Given the description of an element on the screen output the (x, y) to click on. 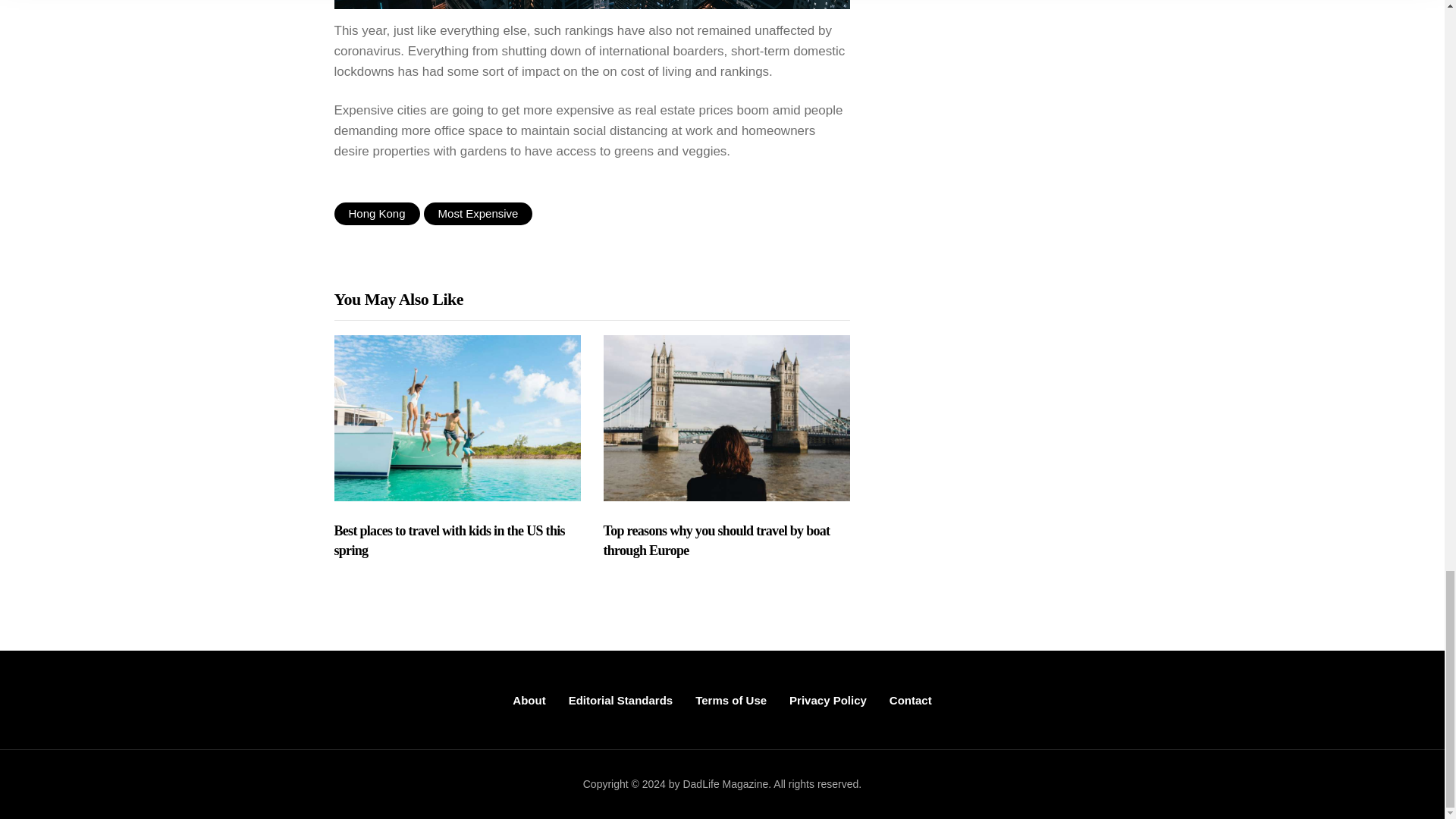
Best places to travel with kids in the US this spring (456, 541)
Hong Kong (376, 213)
Top reasons why you should travel by boat through Europe (727, 541)
Most Expensive (477, 213)
